Given the description of an element on the screen output the (x, y) to click on. 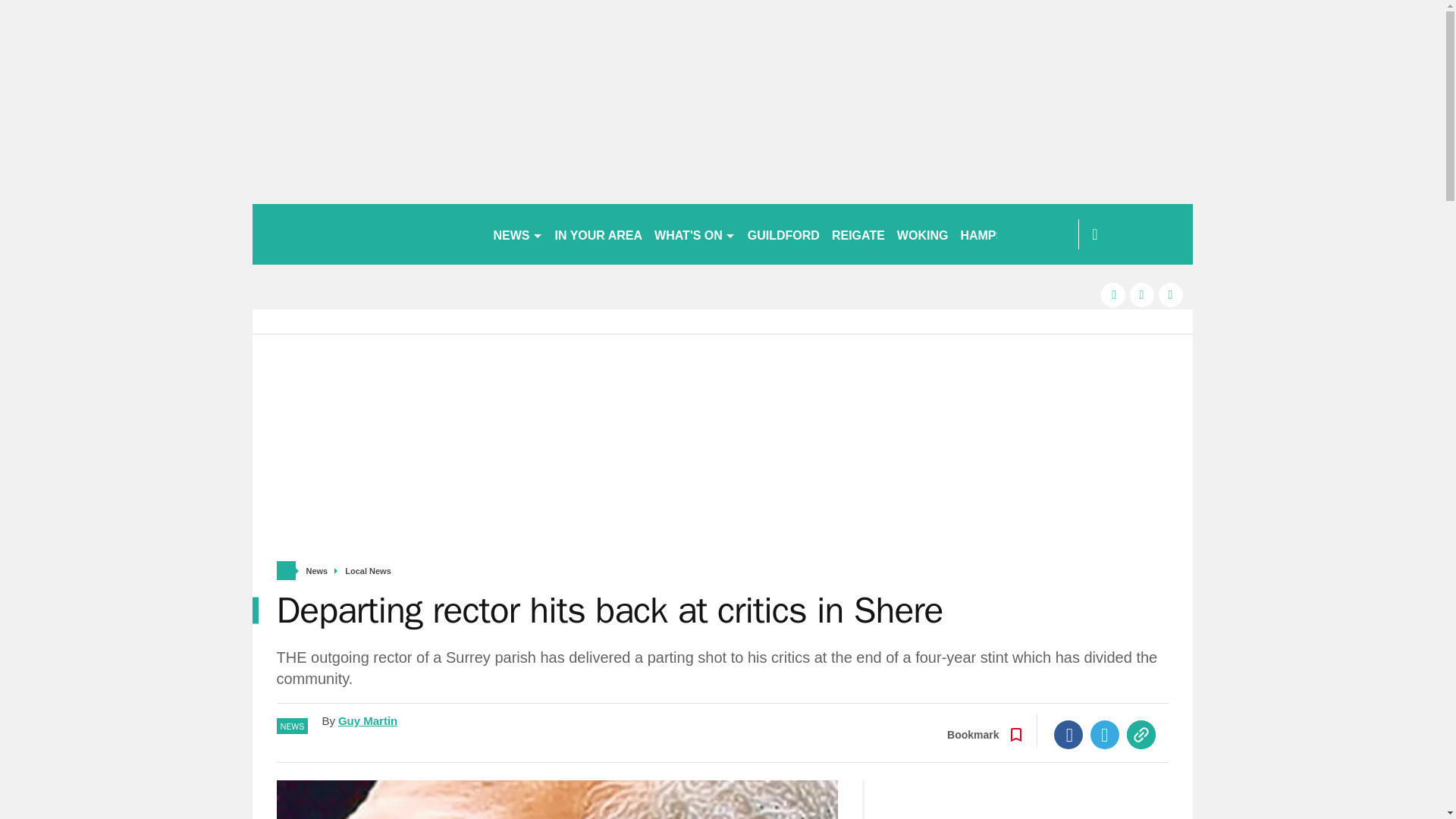
HAMPSHIRE (996, 233)
GUILDFORD (783, 233)
getsurrey (365, 233)
twitter (1141, 294)
REIGATE (858, 233)
IN YOUR AREA (598, 233)
WHAT'S ON (694, 233)
Twitter (1104, 734)
instagram (1170, 294)
NEWS (517, 233)
